Given the description of an element on the screen output the (x, y) to click on. 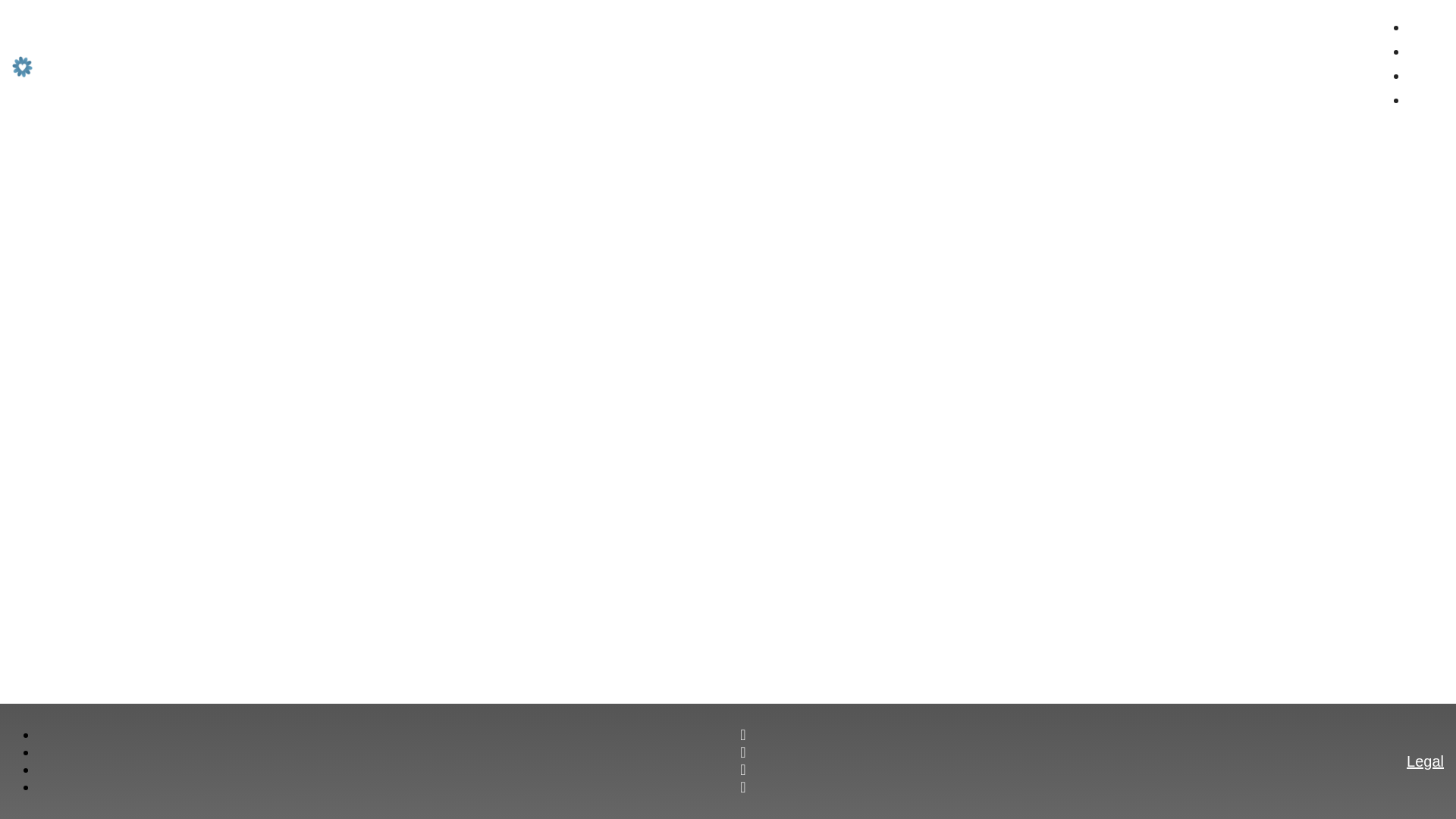
Connect (340, 39)
Books (335, 63)
search (1359, 60)
Embracing life (140, 62)
Search (1359, 60)
